Given the description of an element on the screen output the (x, y) to click on. 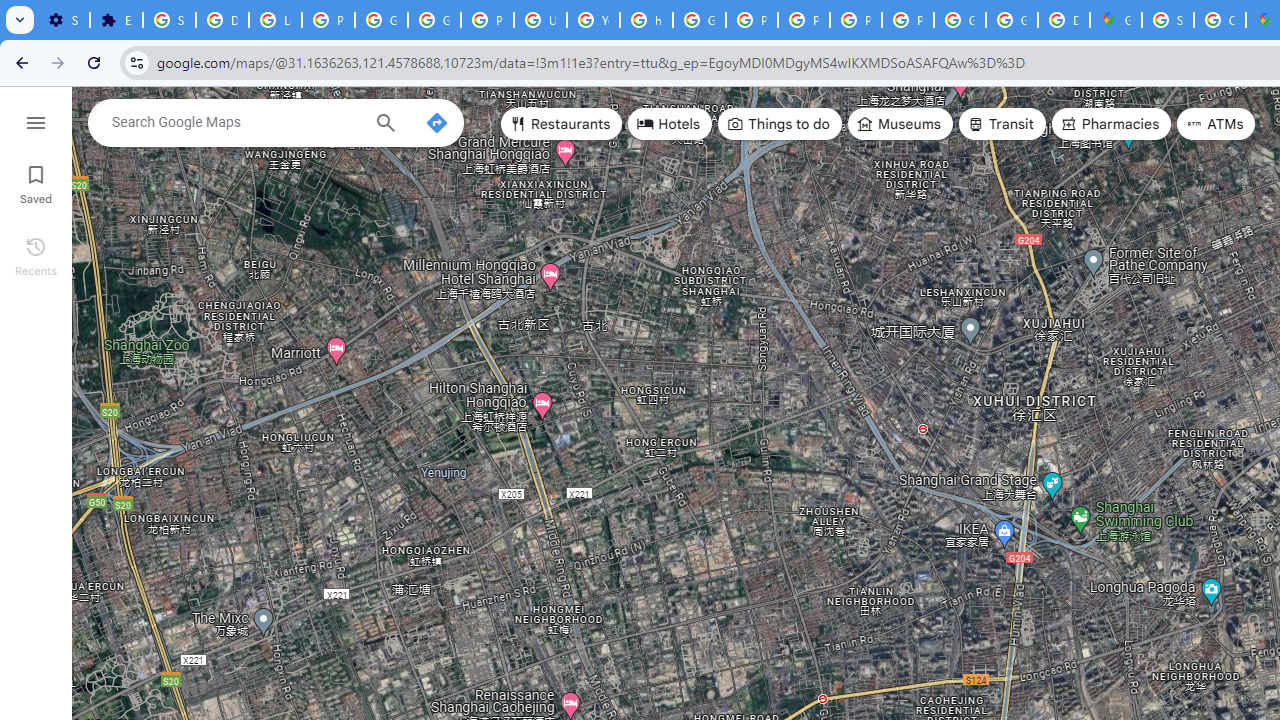
Pharmacies (1111, 124)
Things to do (780, 124)
Settings - On startup (63, 20)
Transit (1001, 124)
Hotels (670, 124)
Directions (436, 122)
Recents (35, 254)
Sign in - Google Accounts (1167, 20)
https://scholar.google.com/ (646, 20)
Google Maps (1115, 20)
